Given the description of an element on the screen output the (x, y) to click on. 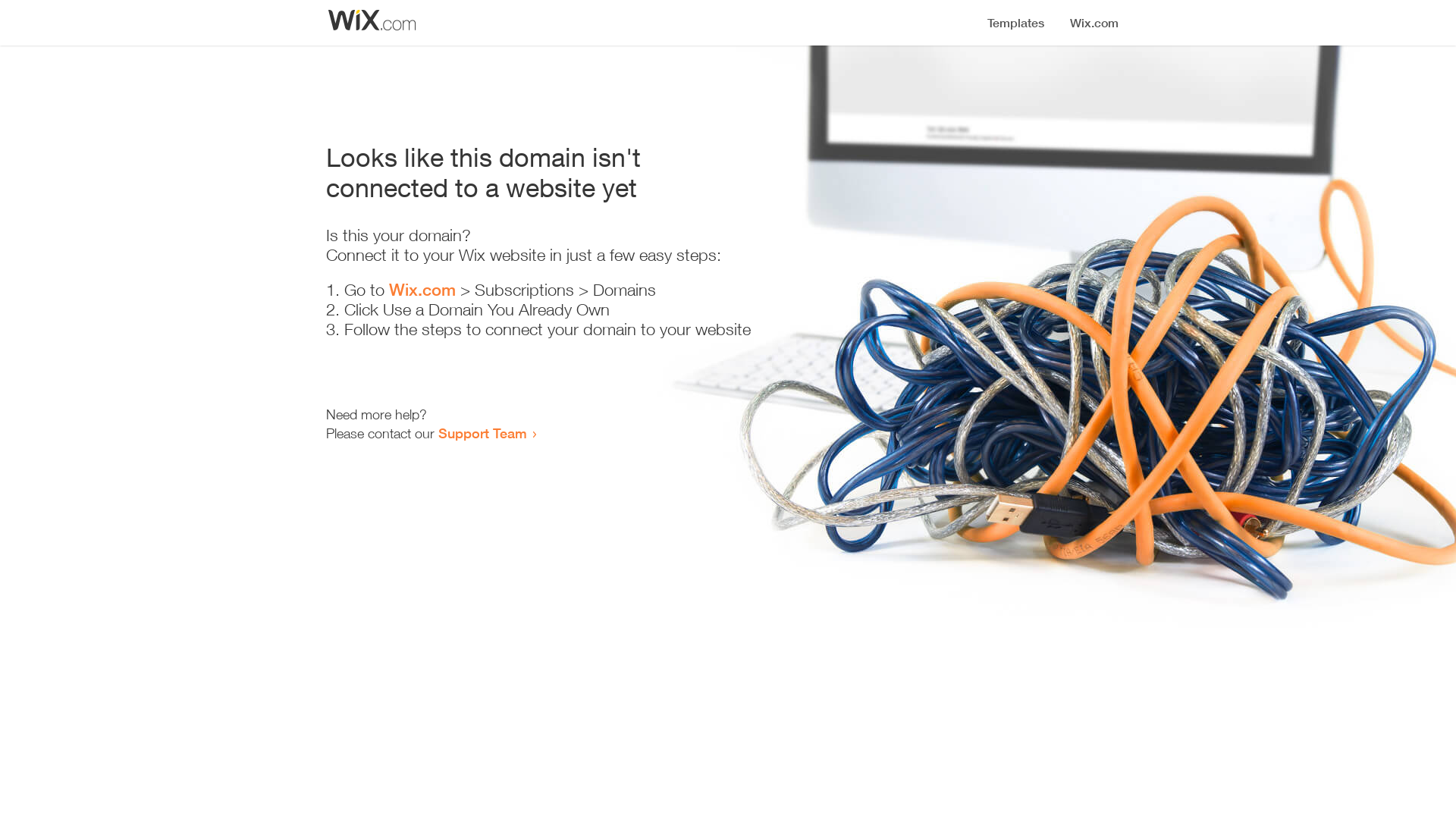
Wix.com Element type: text (422, 289)
Support Team Element type: text (482, 432)
